Given the description of an element on the screen output the (x, y) to click on. 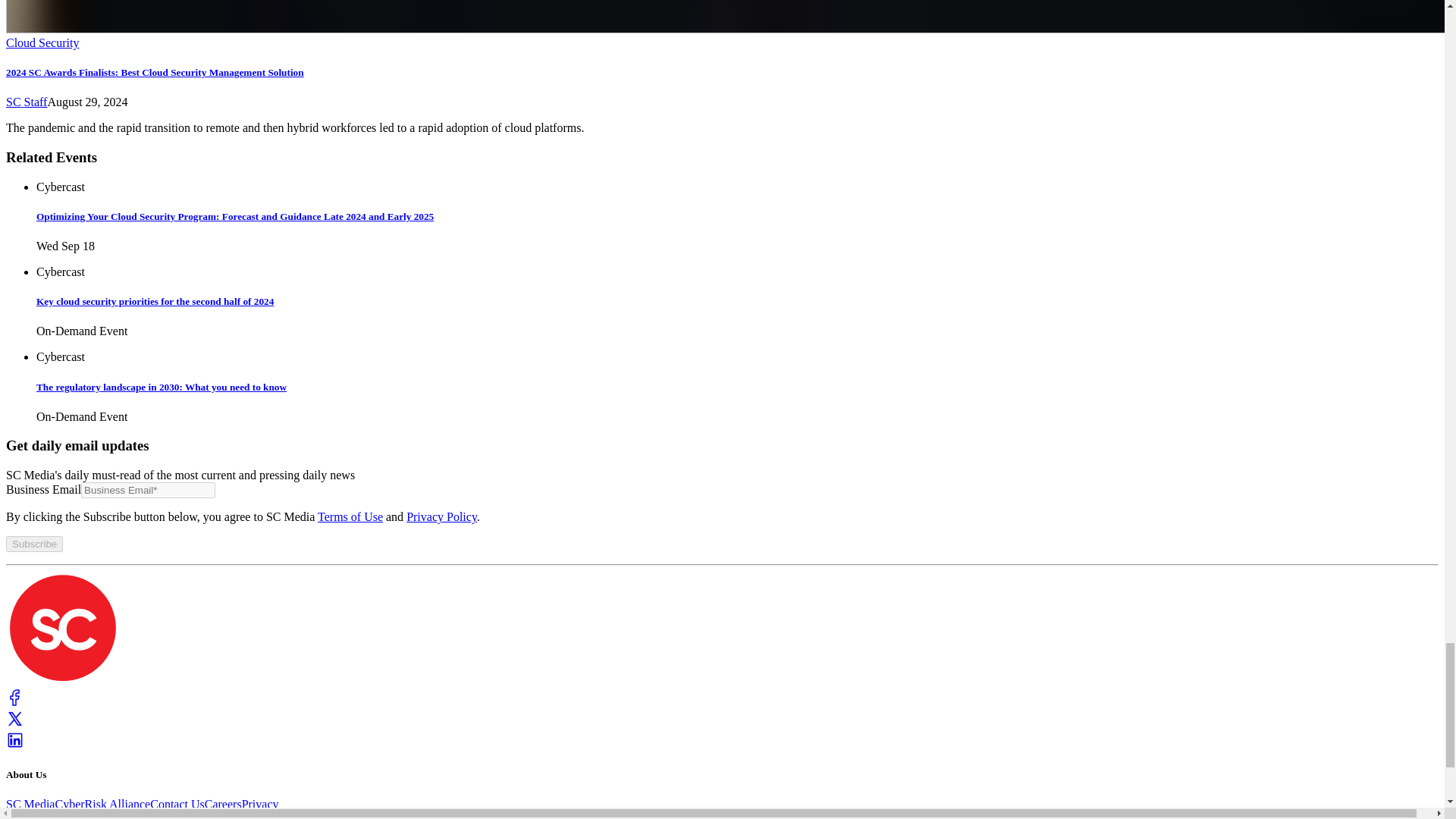
SCMagazine on LinkedIn (14, 744)
SCMagazine on Facebook (14, 702)
Cloud Security (41, 42)
SC Staff (25, 101)
Key cloud security priorities for the second half of 2024 (737, 316)
The regulatory landscape in 2030: What you need to know (737, 401)
Terms of Use (349, 516)
SC Media (62, 680)
